Given the description of an element on the screen output the (x, y) to click on. 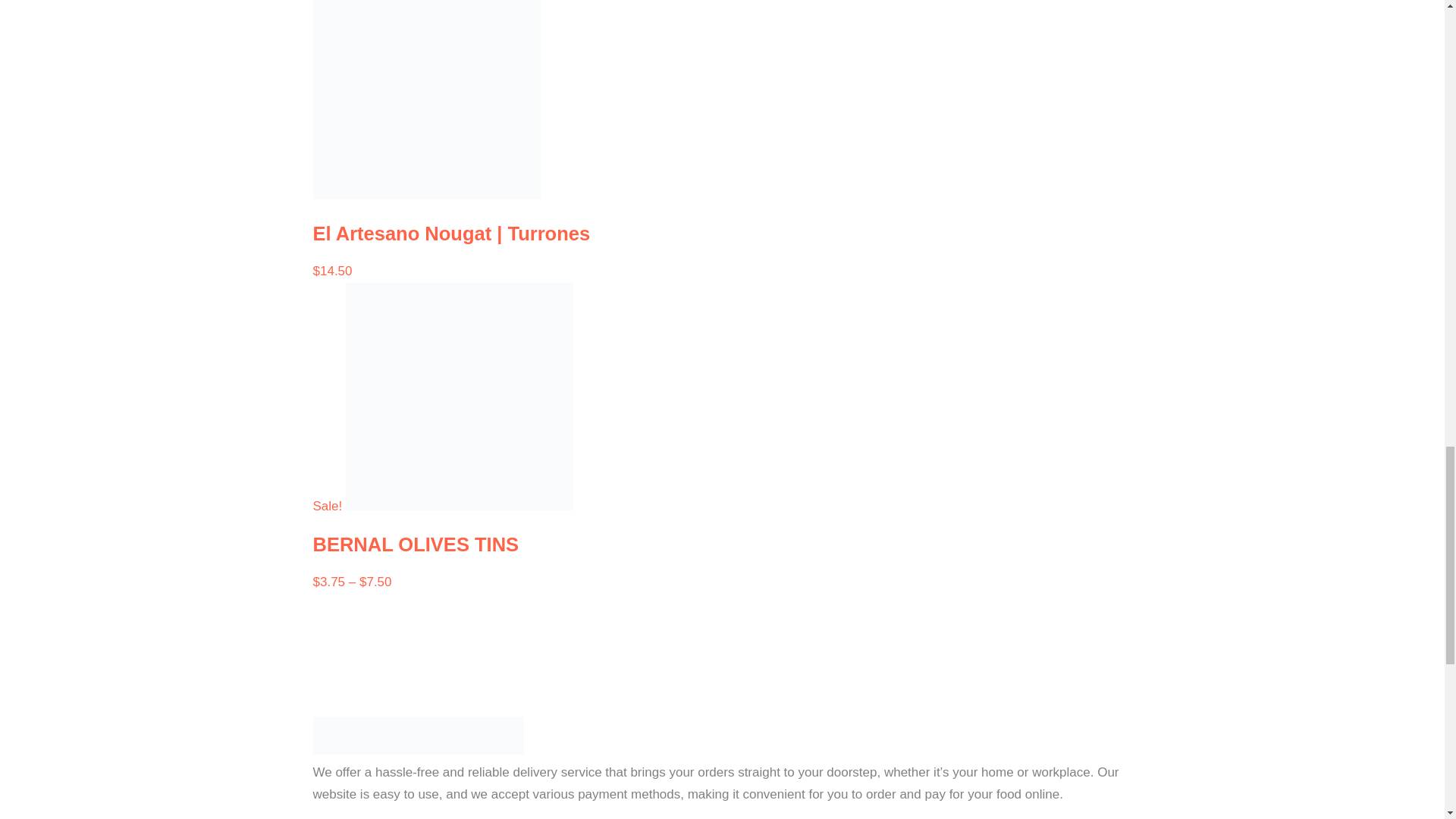
Logo Food to Deliver White (417, 735)
